Given the description of an element on the screen output the (x, y) to click on. 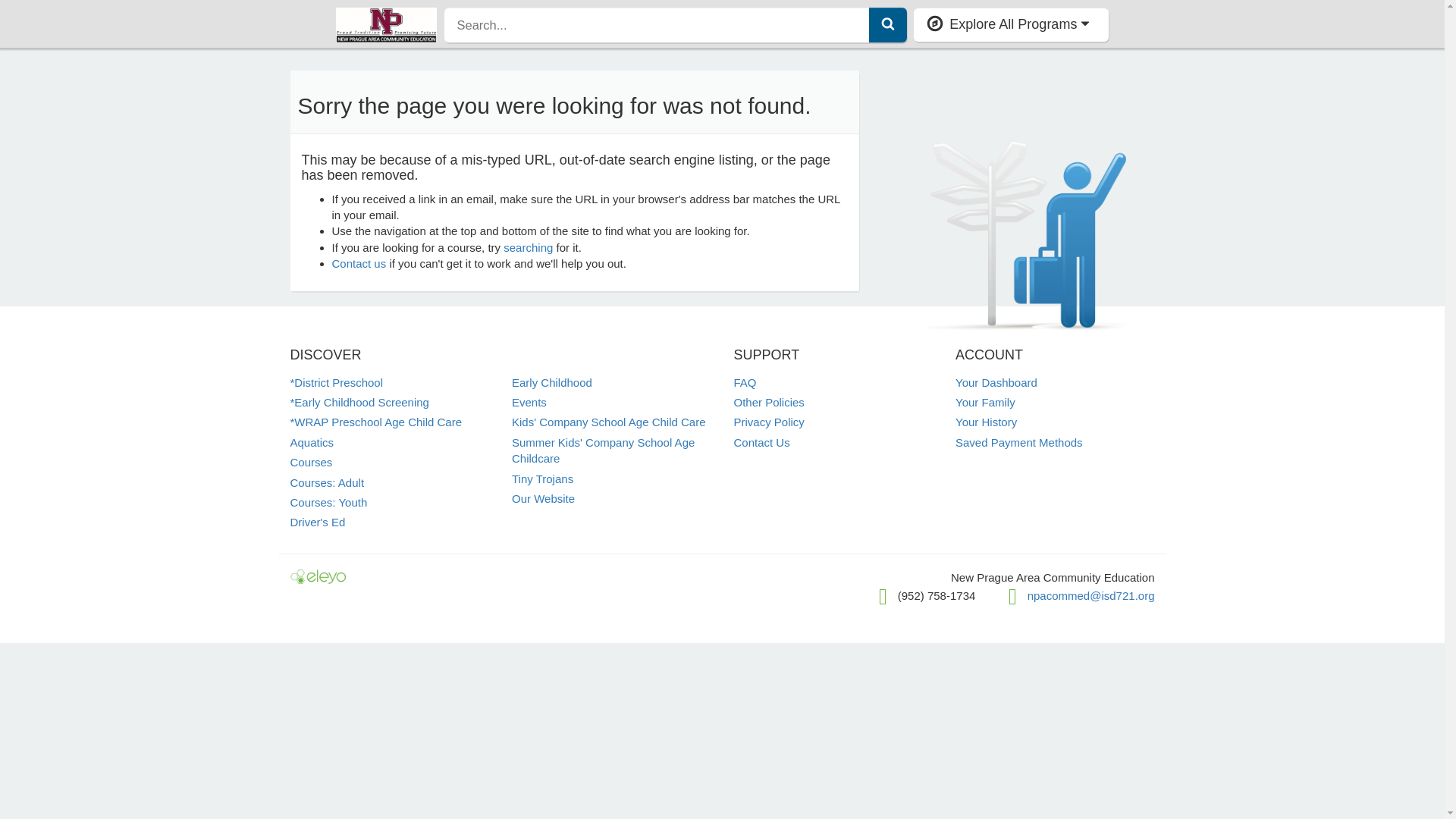
 Compass Icon (934, 23)
 Caret Down Icon (1085, 23)
 Search Icon (887, 23)
Explore All Programs (1011, 24)
